Given the description of an element on the screen output the (x, y) to click on. 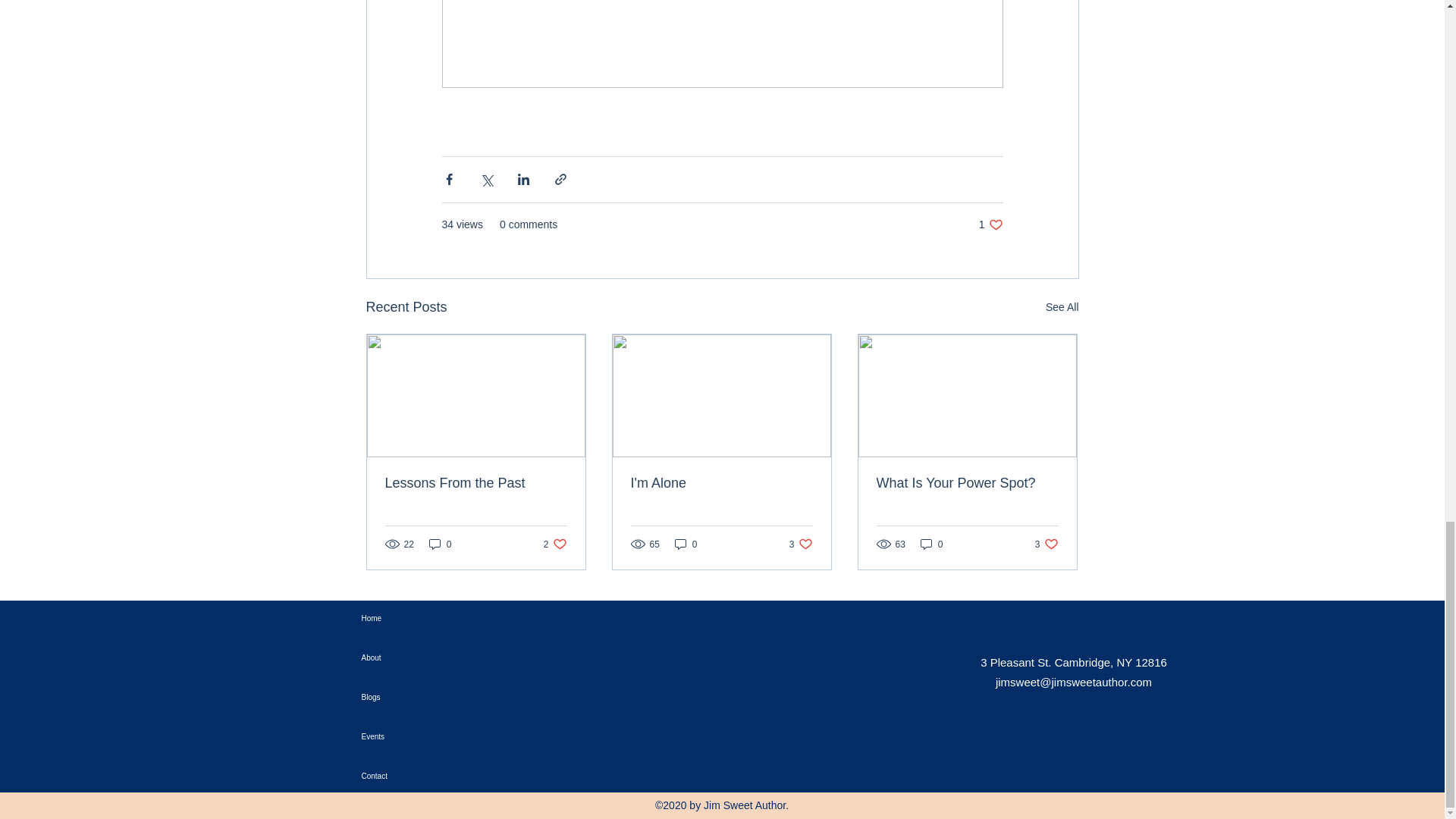
0 (440, 544)
0 (990, 224)
I'm Alone (931, 544)
See All (721, 483)
Home (1061, 307)
0 (430, 618)
Events (555, 544)
